Given the description of an element on the screen output the (x, y) to click on. 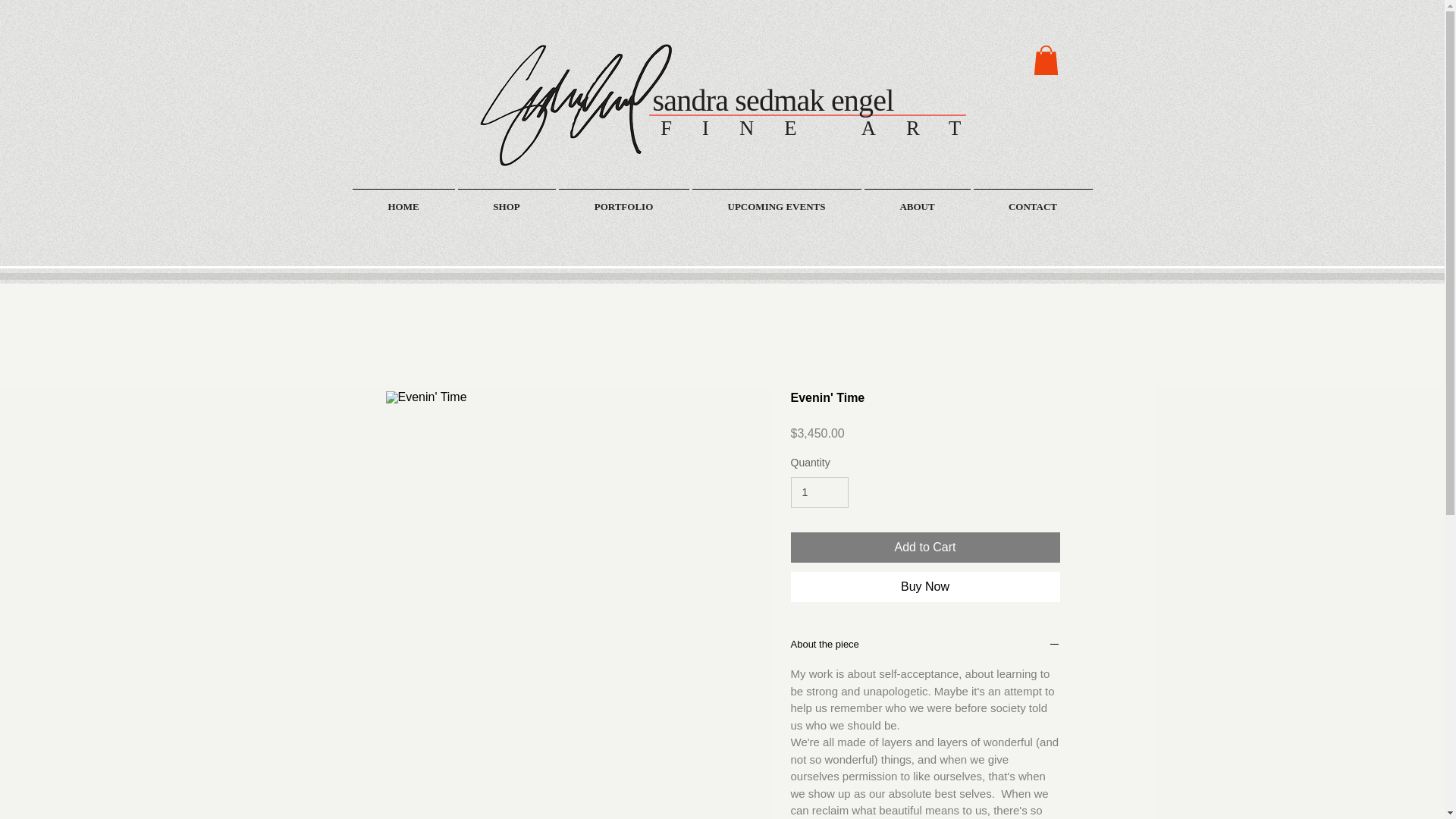
CONTACT (1033, 199)
Buy Now (924, 586)
About the piece (924, 645)
1 (818, 491)
sandra sedmak engelFINE ART (805, 112)
UPCOMING EVENTS (775, 199)
Add to Cart (924, 547)
HOME (402, 199)
ABOUT (917, 199)
